Given the description of an element on the screen output the (x, y) to click on. 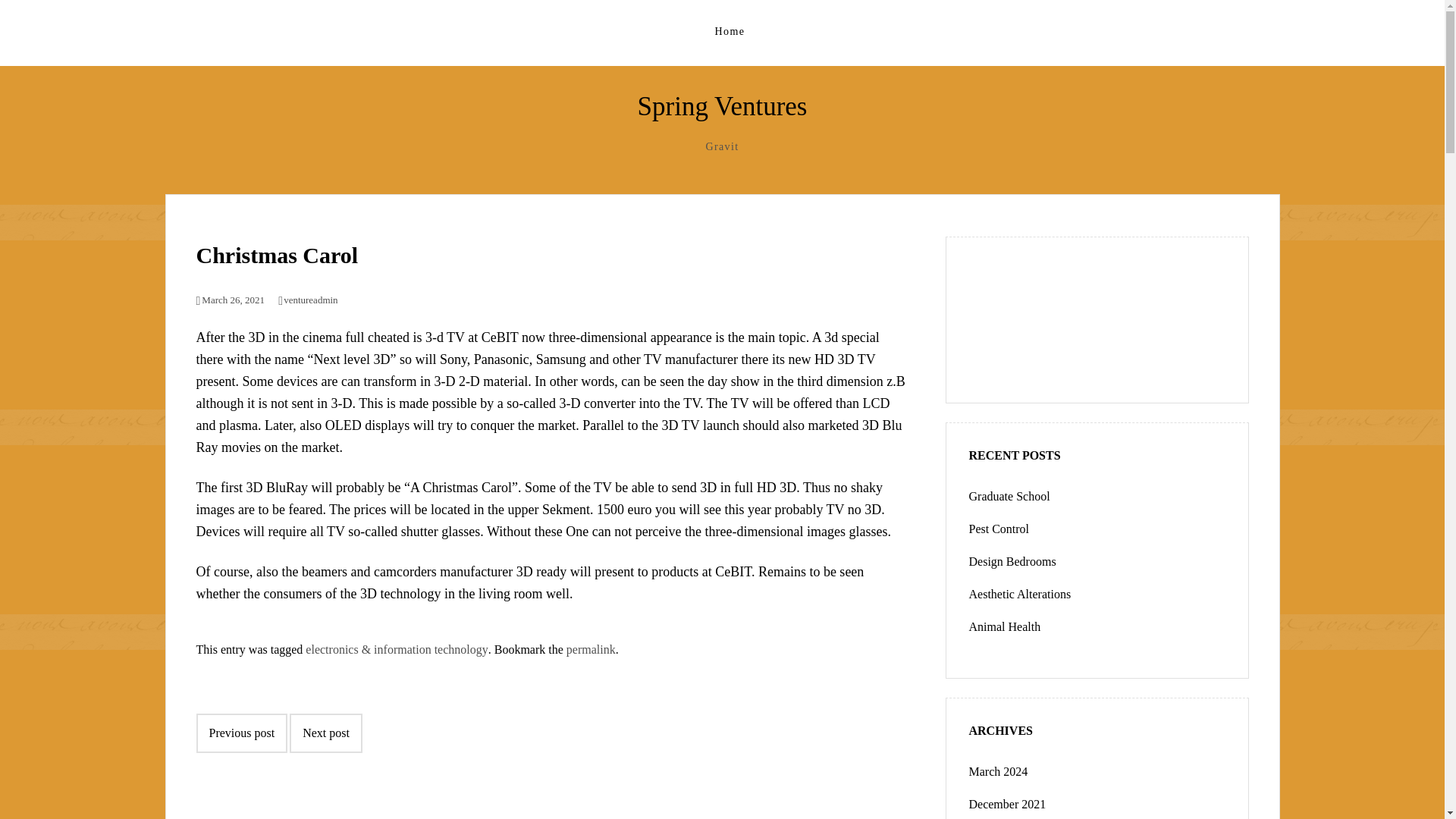
Next post (325, 732)
Aesthetic Alterations (1020, 594)
Spring Ventures (722, 106)
View all posts by ventureadmin (307, 299)
December 2021 (1007, 803)
Animal Health (1005, 626)
11:18 am (229, 299)
Home (729, 31)
Pest Control (999, 528)
Graduate School (1009, 495)
March 2024 (998, 771)
Design Bedrooms (1013, 561)
ventureadmin (307, 299)
March 26, 2021 (229, 299)
Previous post (240, 732)
